Given the description of an element on the screen output the (x, y) to click on. 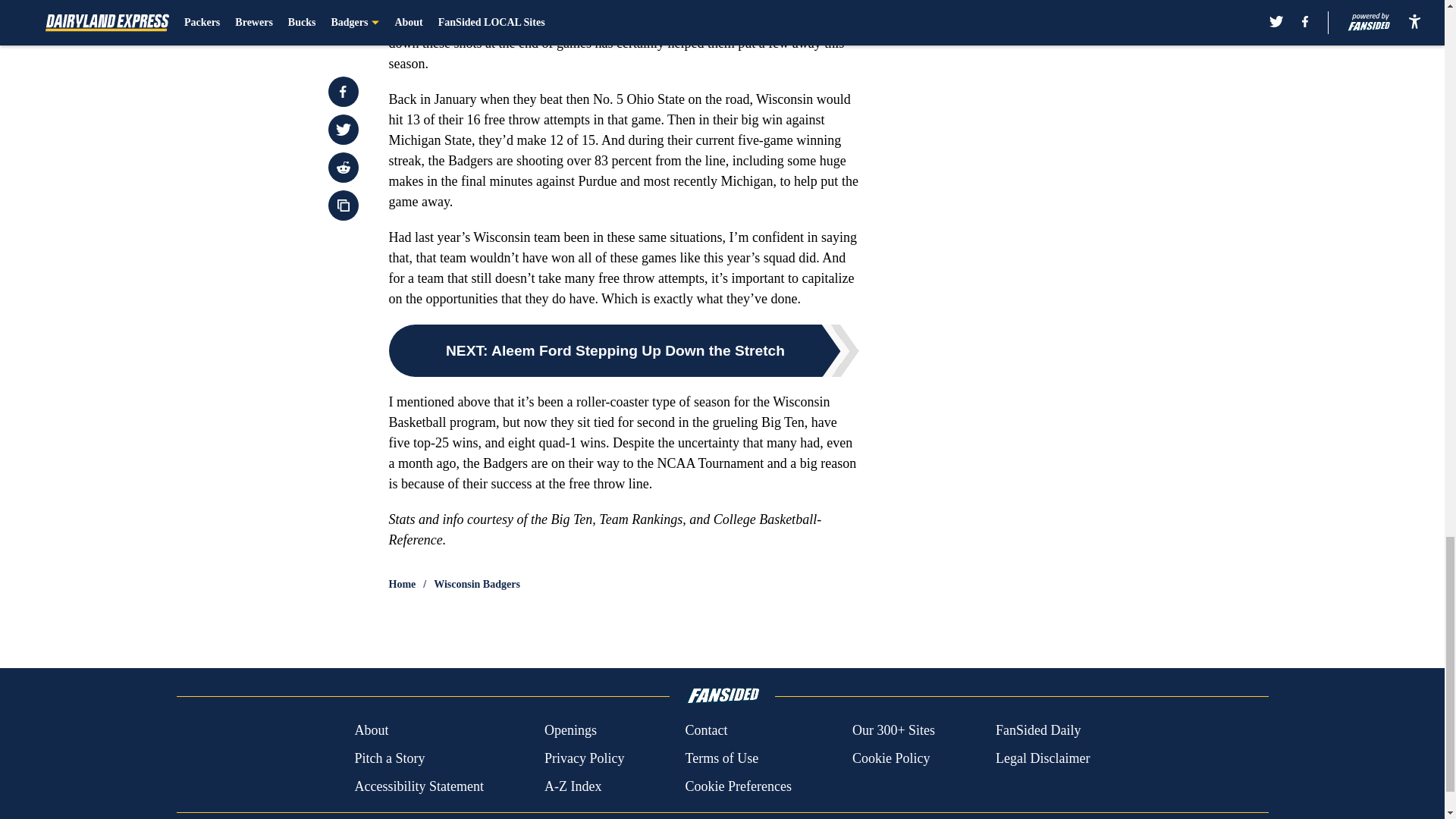
NEXT: Aleem Ford Stepping Up Down the Stretch (623, 350)
FanSided Daily (1038, 730)
Privacy Policy (584, 758)
About (370, 730)
76.9 percent of their free throws (737, 4)
Home (401, 584)
Openings (570, 730)
Terms of Use (721, 758)
Pitch a Story (389, 758)
Wisconsin Badgers (476, 584)
